Given the description of an element on the screen output the (x, y) to click on. 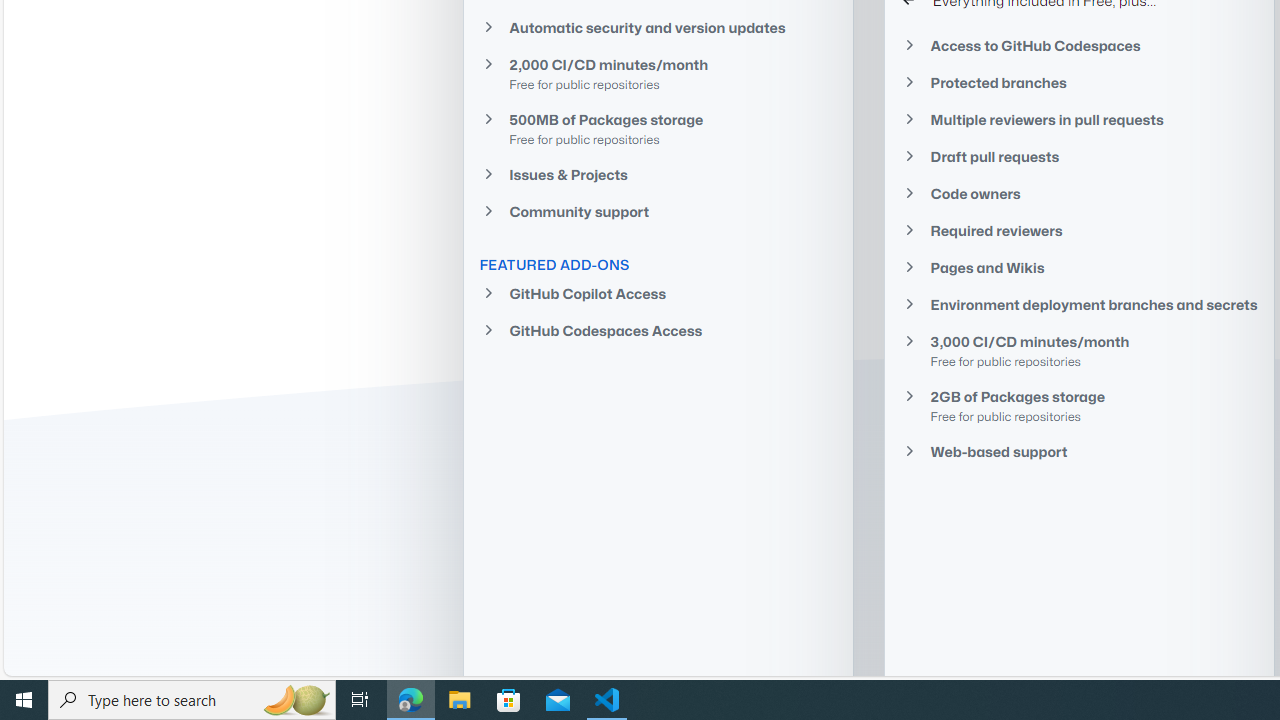
Web-based support (1079, 451)
Pages and Wikis (1079, 268)
Issues & Projects (657, 174)
Issues & Projects (657, 173)
Protected branches (1079, 82)
GitHub Codespaces Access (657, 330)
